Given the description of an element on the screen output the (x, y) to click on. 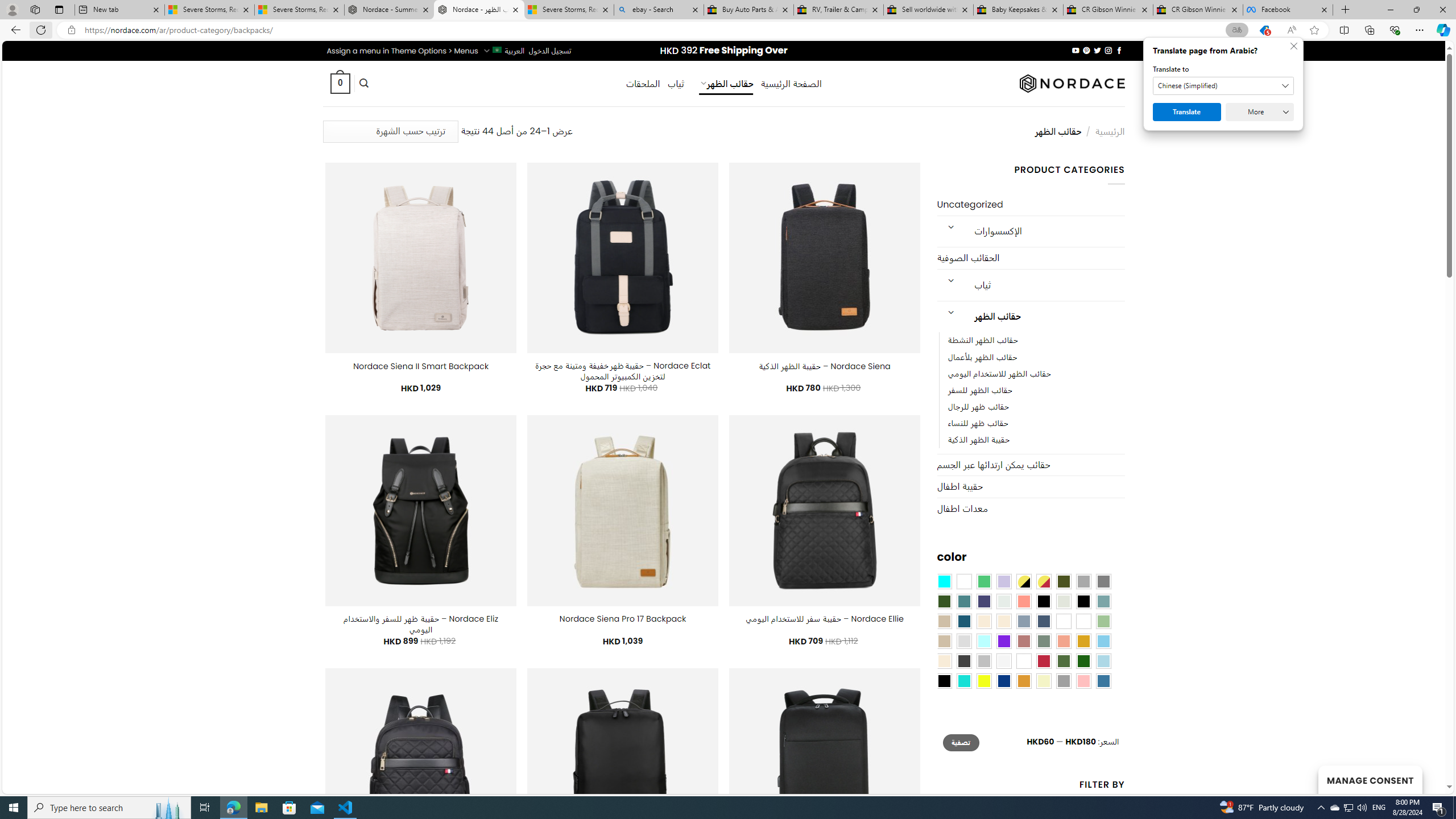
Forest (944, 601)
Teal (963, 601)
Follow on Instagram (1108, 50)
